Given the description of an element on the screen output the (x, y) to click on. 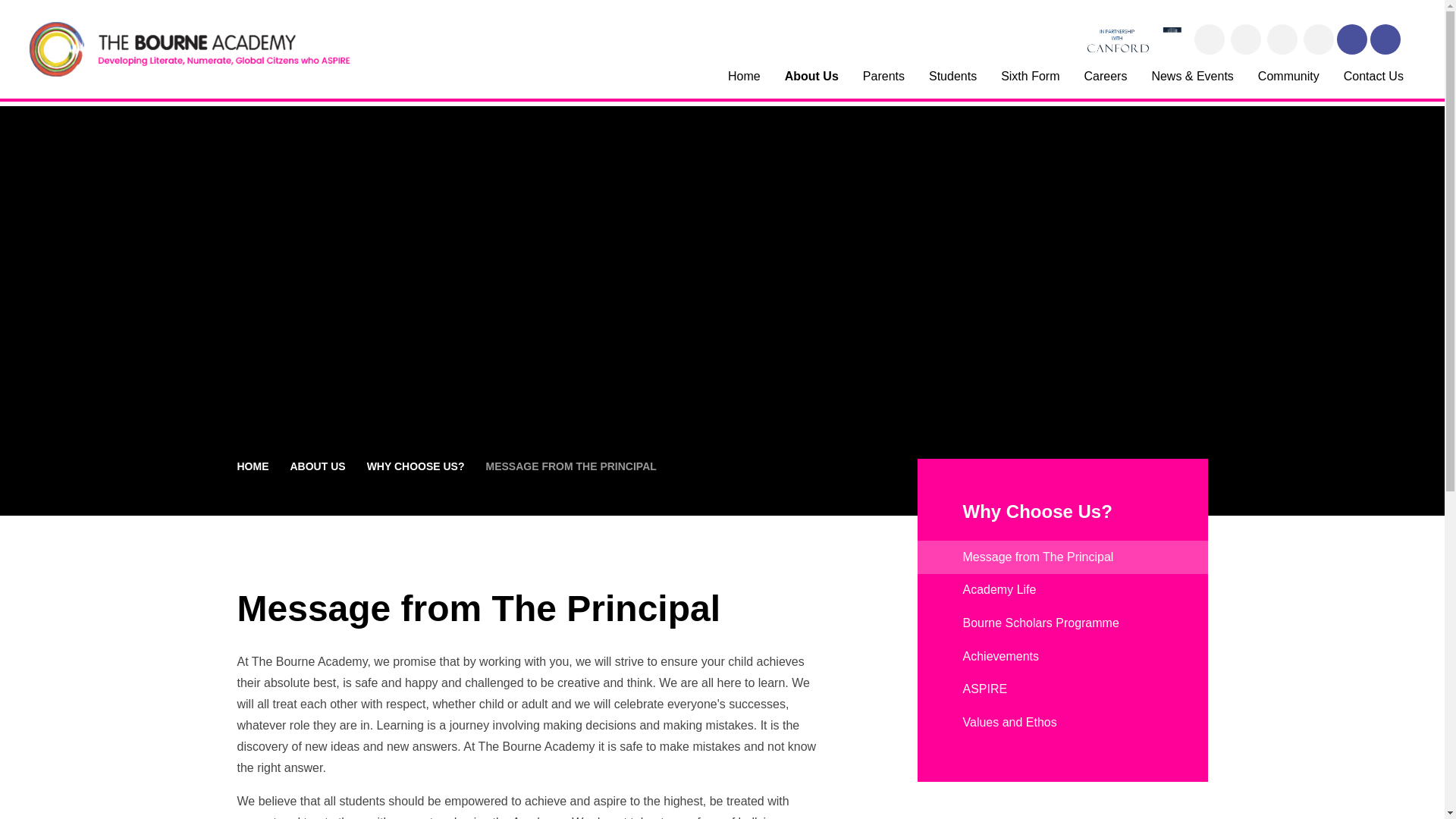
Home (744, 82)
About Us (811, 82)
